Given the description of an element on the screen output the (x, y) to click on. 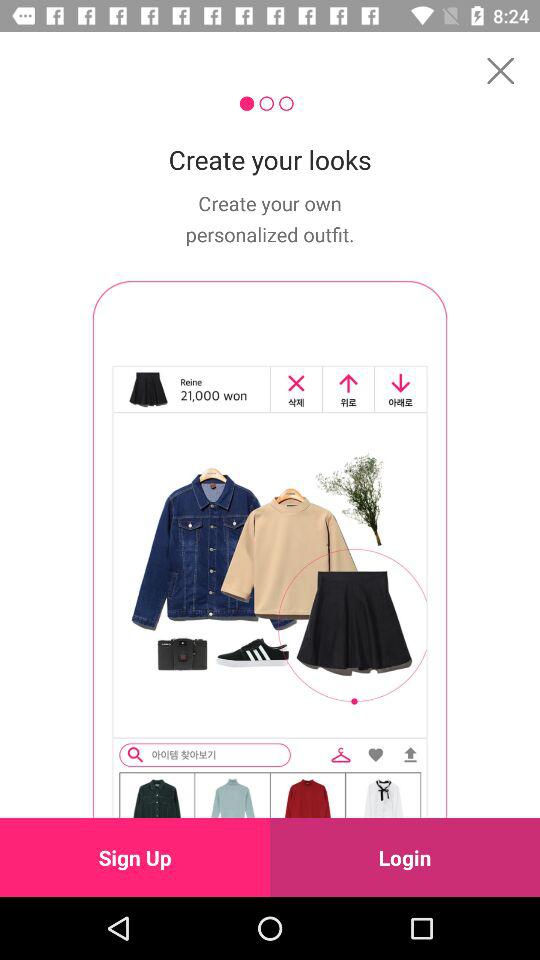
turn off item to the left of the login item (135, 857)
